Given the description of an element on the screen output the (x, y) to click on. 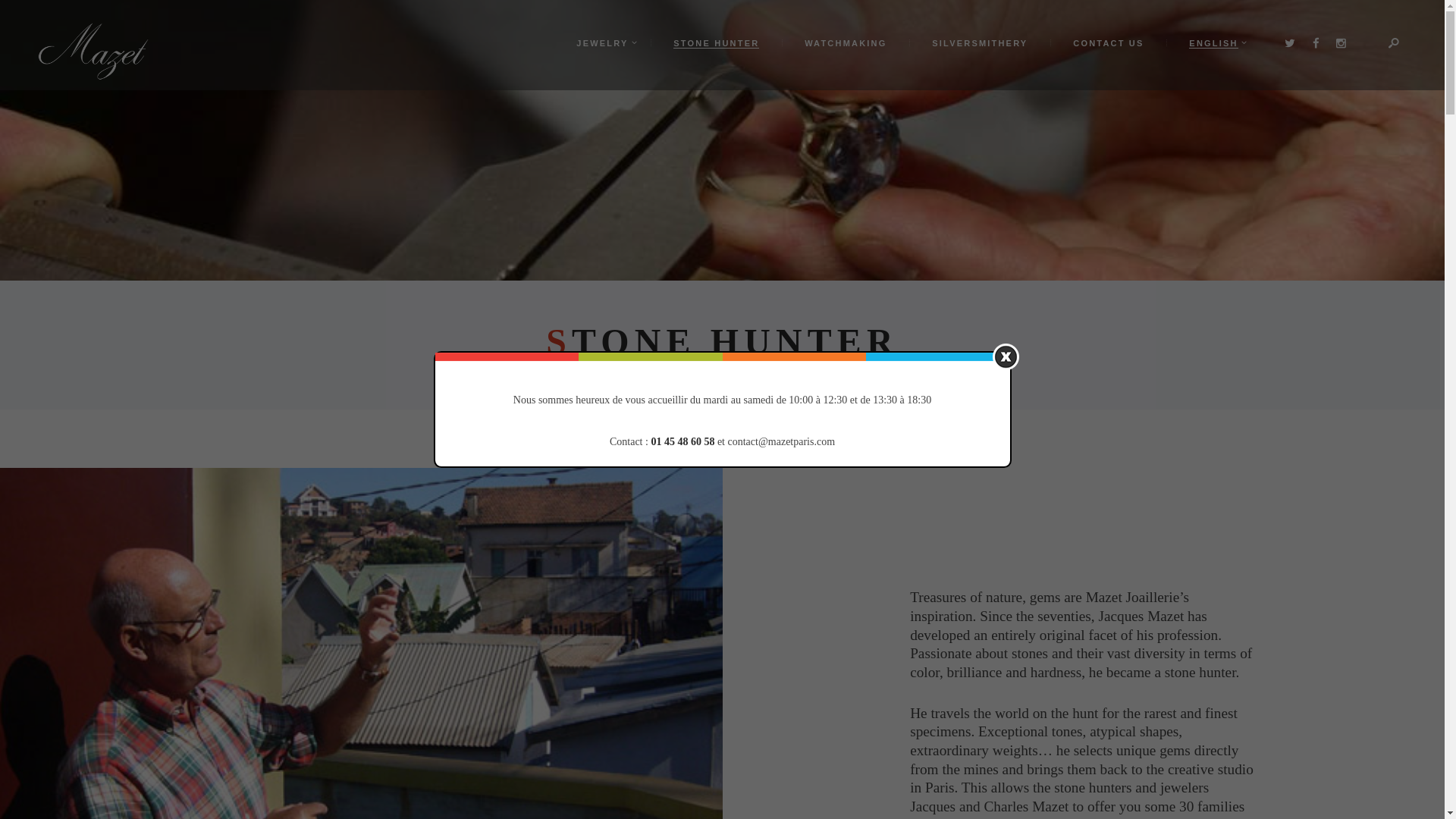
CONTACT US (1107, 42)
STONE HUNTER (715, 42)
SILVERSMITHERY (978, 42)
ENGLISH (1213, 42)
WATCHMAKING (844, 42)
JEWELRY (601, 42)
